Given the description of an element on the screen output the (x, y) to click on. 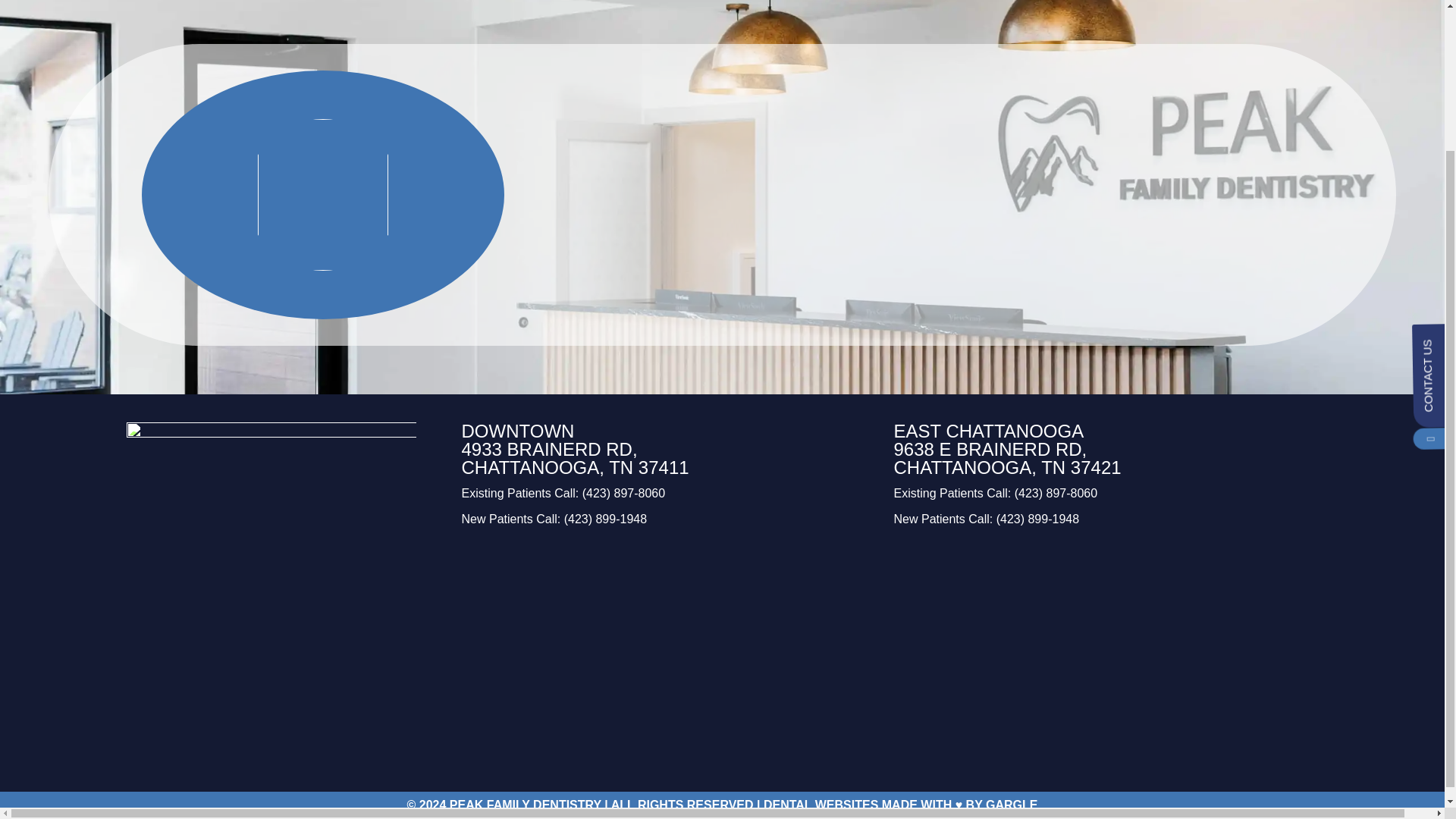
4933 Brainerd Rd, Chattanooga, TN 37411 (665, 649)
9638 E Brainerd Rd, Chattanooga, TN 37421 (1098, 649)
